Given the description of an element on the screen output the (x, y) to click on. 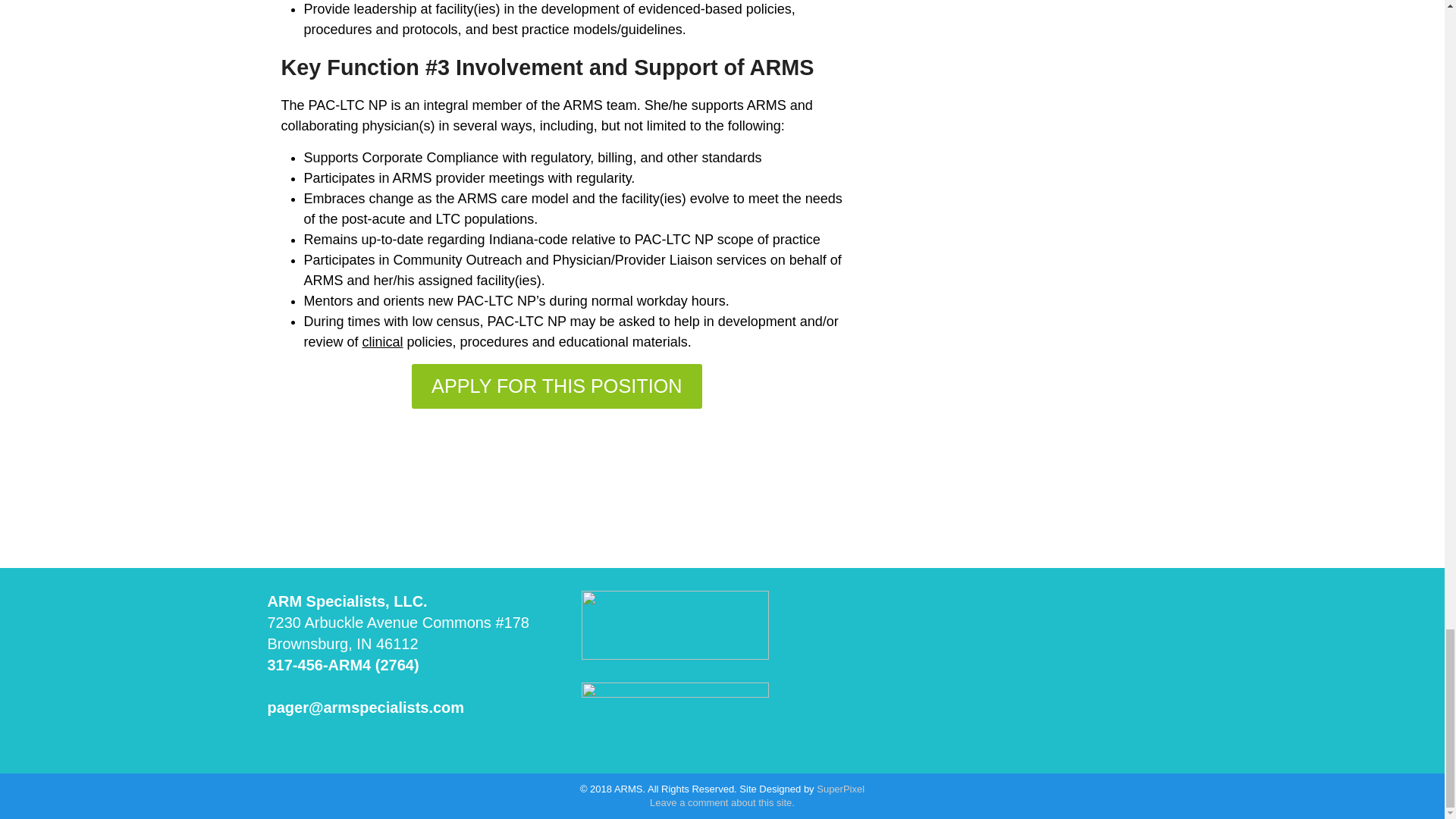
SuperPixel (840, 788)
APPLY FOR THIS POSITION (556, 385)
Leave a comment about this site. (721, 802)
